Given the description of an element on the screen output the (x, y) to click on. 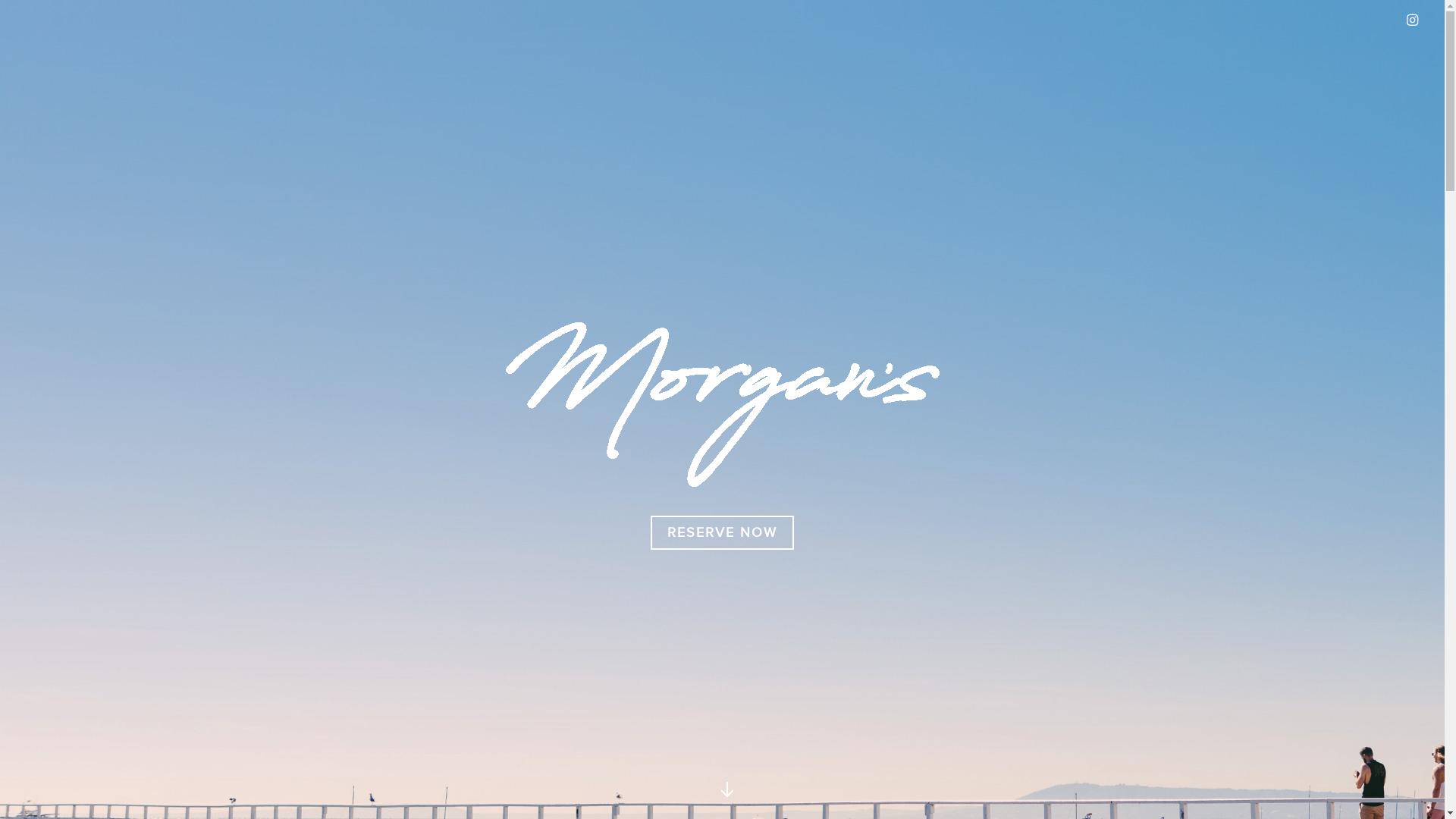
RESERVE NOW Element type: text (721, 532)
